Given the description of an element on the screen output the (x, y) to click on. 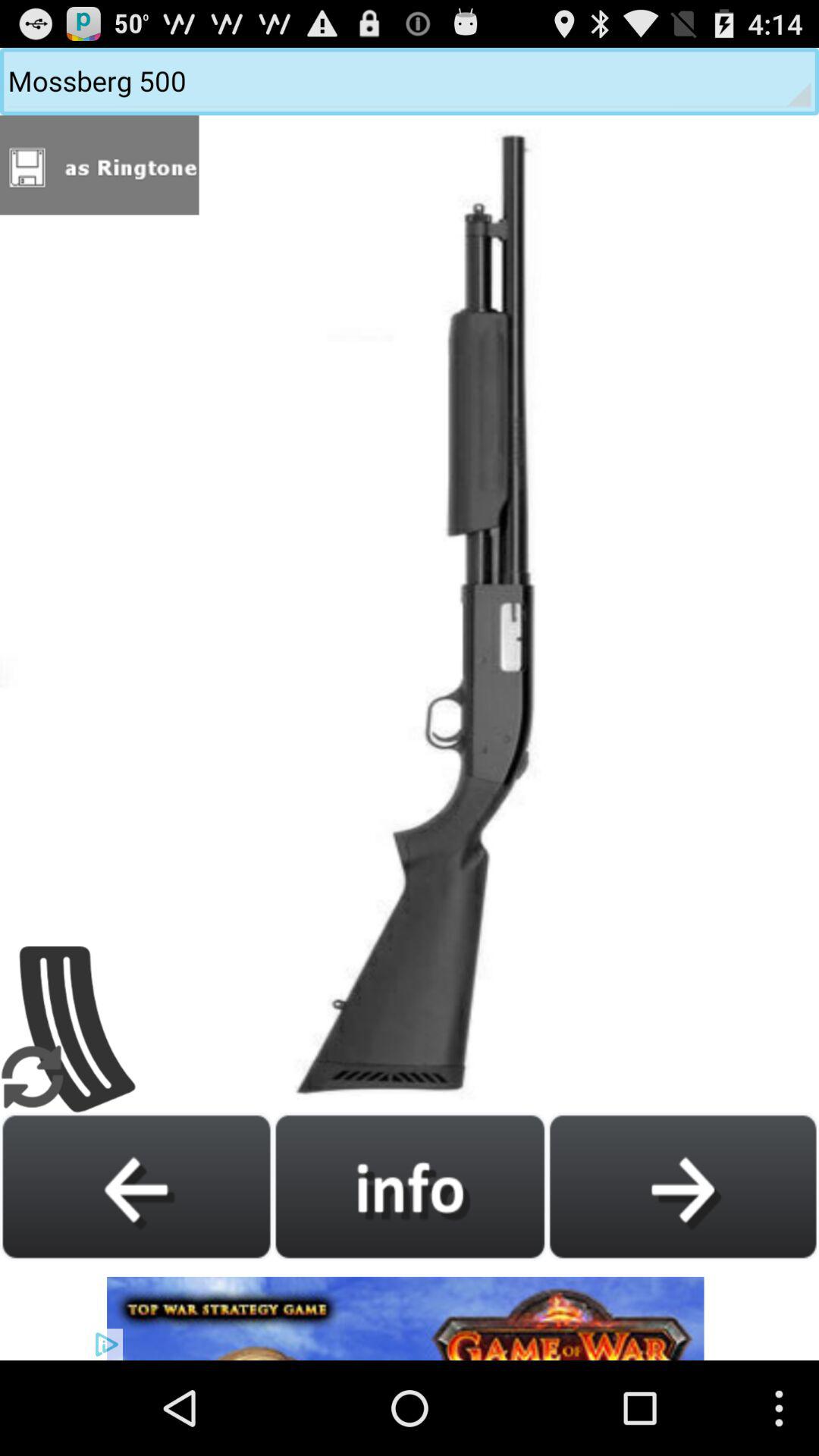
more info (410, 1186)
